Given the description of an element on the screen output the (x, y) to click on. 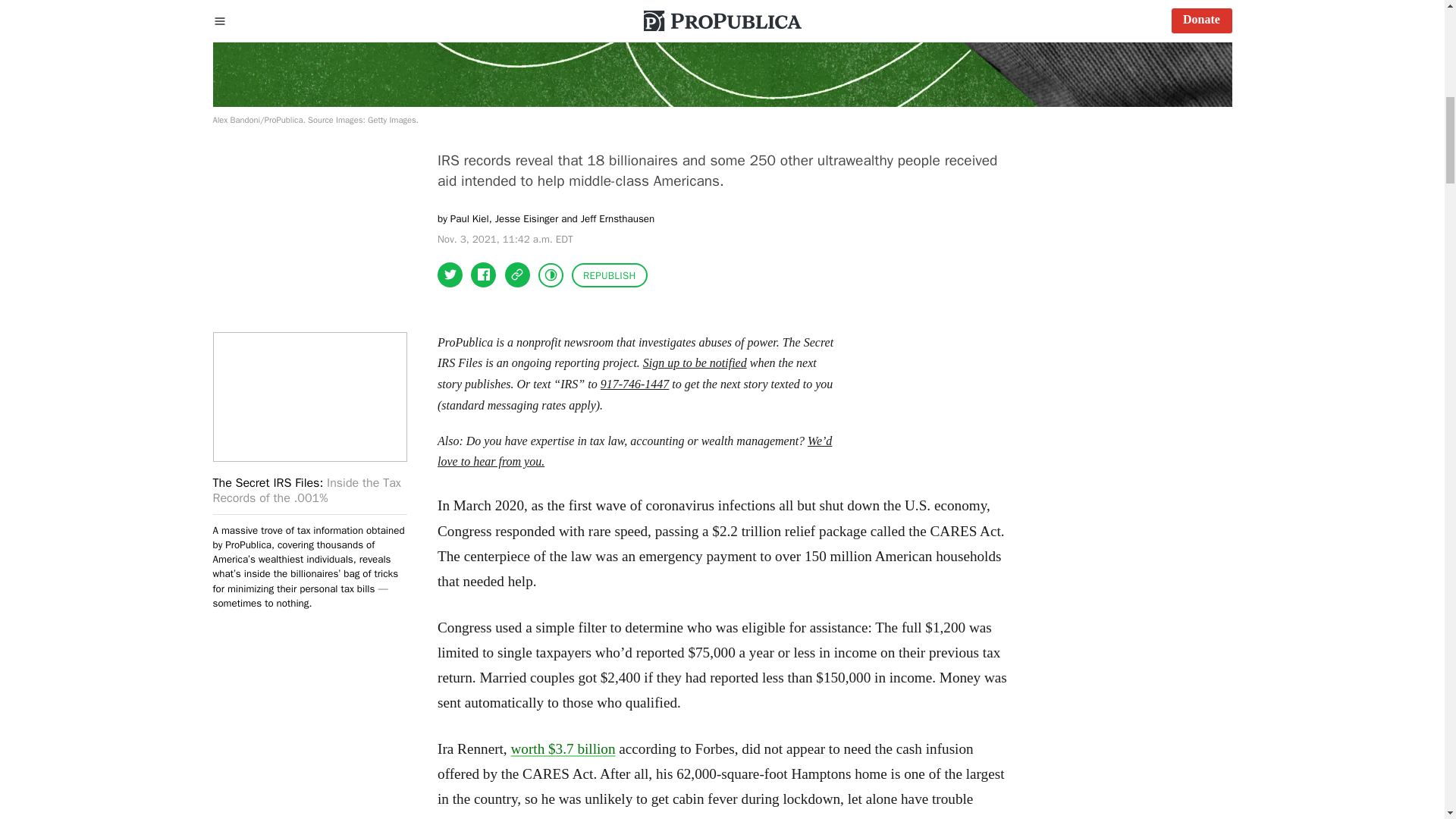
Jesse Eisinger (527, 218)
Facebook (483, 274)
Twitter (450, 274)
Jeff Ernsthausen (616, 218)
917-746-1447 (634, 383)
Paul Kiel (469, 218)
Sign up to be notified (694, 362)
REPUBLISH (609, 275)
Copy (517, 274)
